Given the description of an element on the screen output the (x, y) to click on. 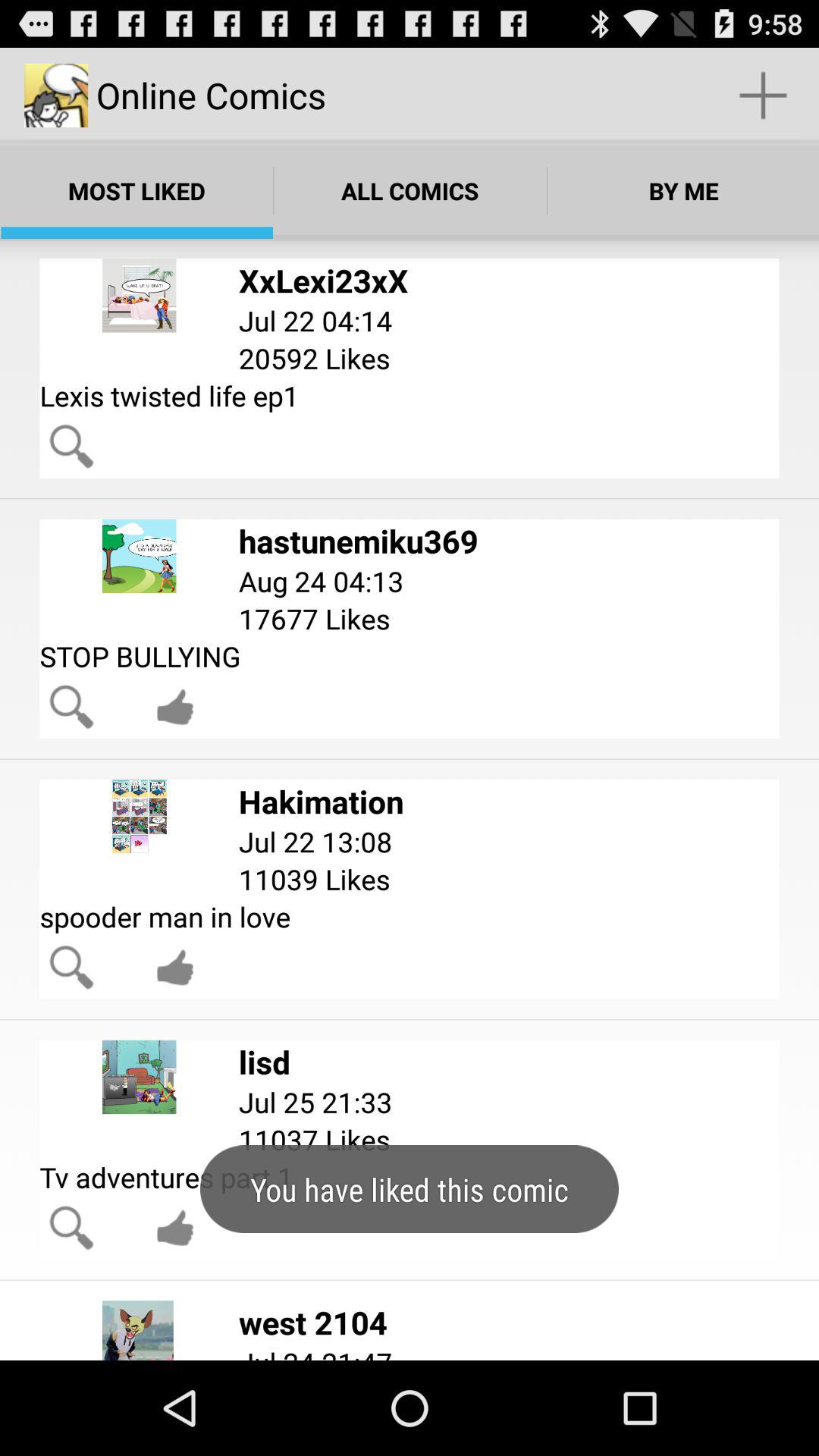
search (71, 446)
